Given the description of an element on the screen output the (x, y) to click on. 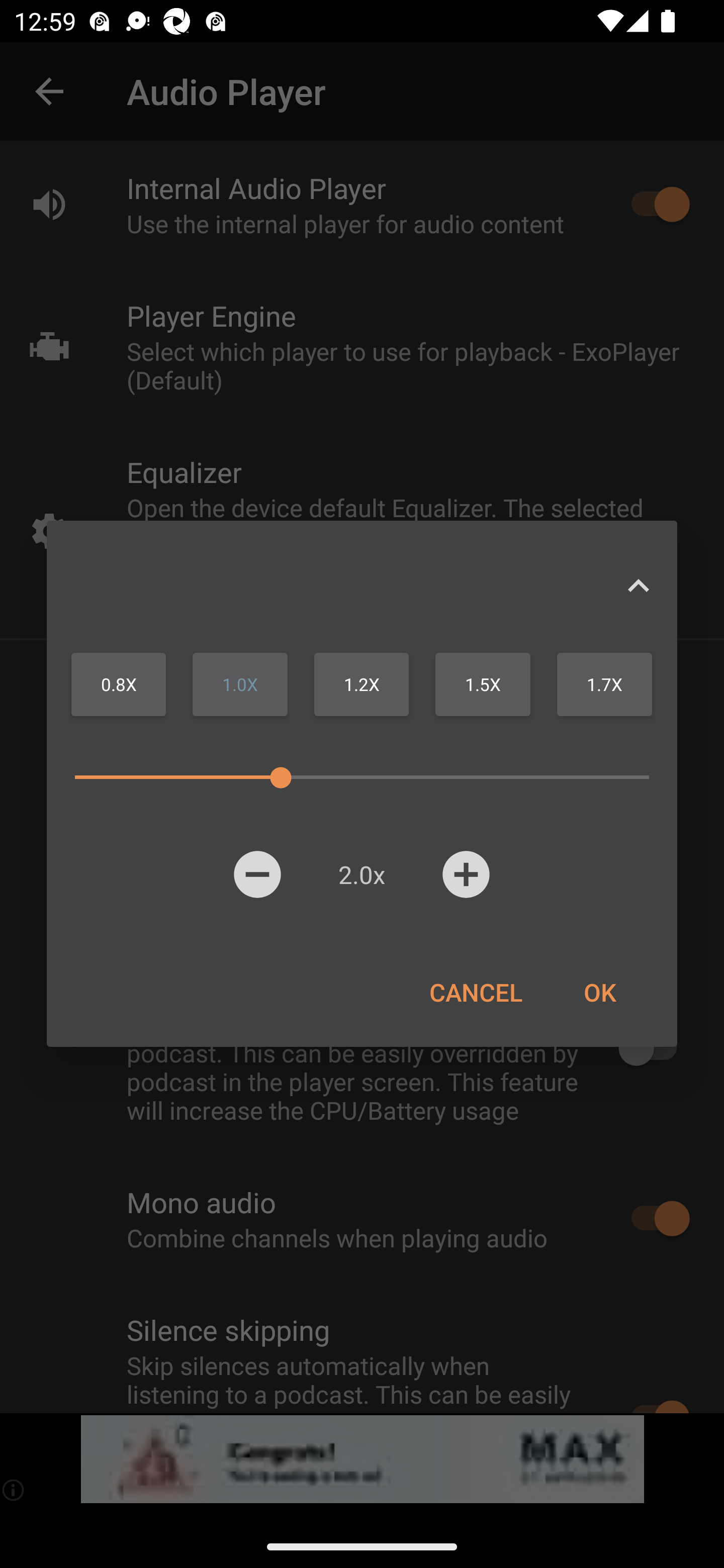
Expand (637, 585)
0.8X (118, 683)
1.0X (239, 683)
1.2X (360, 683)
1.5X (482, 683)
1.7X (604, 683)
2.0x (361, 873)
CANCEL (475, 992)
OK (599, 992)
